Given the description of an element on the screen output the (x, y) to click on. 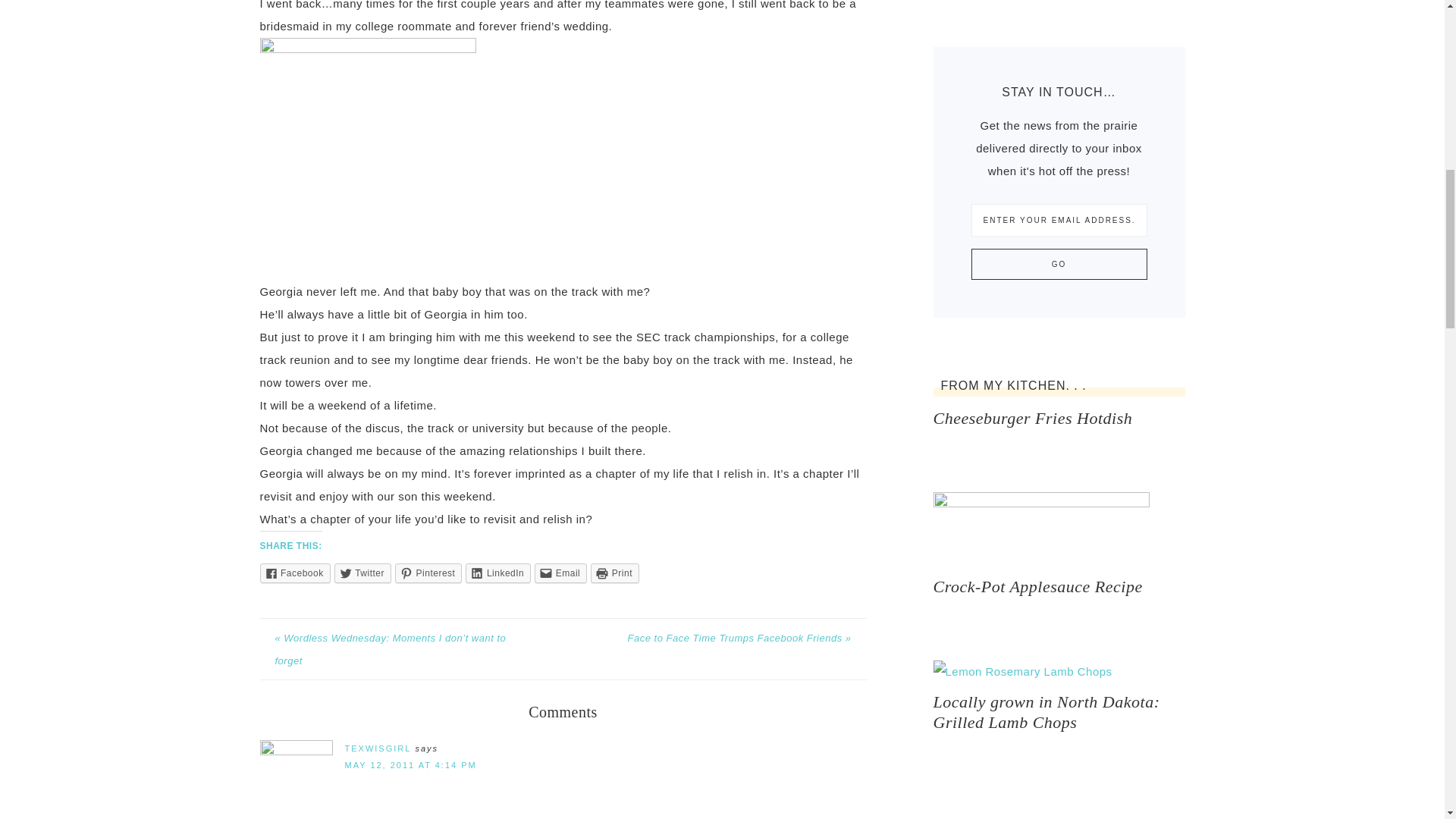
TEXWISGIRL (376, 747)
Print (615, 573)
Click to print (615, 573)
Click to share on Twitter (362, 573)
Email (560, 573)
Click to email this to a friend (560, 573)
LinkedIn (498, 573)
Click to share on Facebook (294, 573)
MAY 12, 2011 AT 4:14 PM (409, 764)
Click to share on LinkedIn (498, 573)
